Given the description of an element on the screen output the (x, y) to click on. 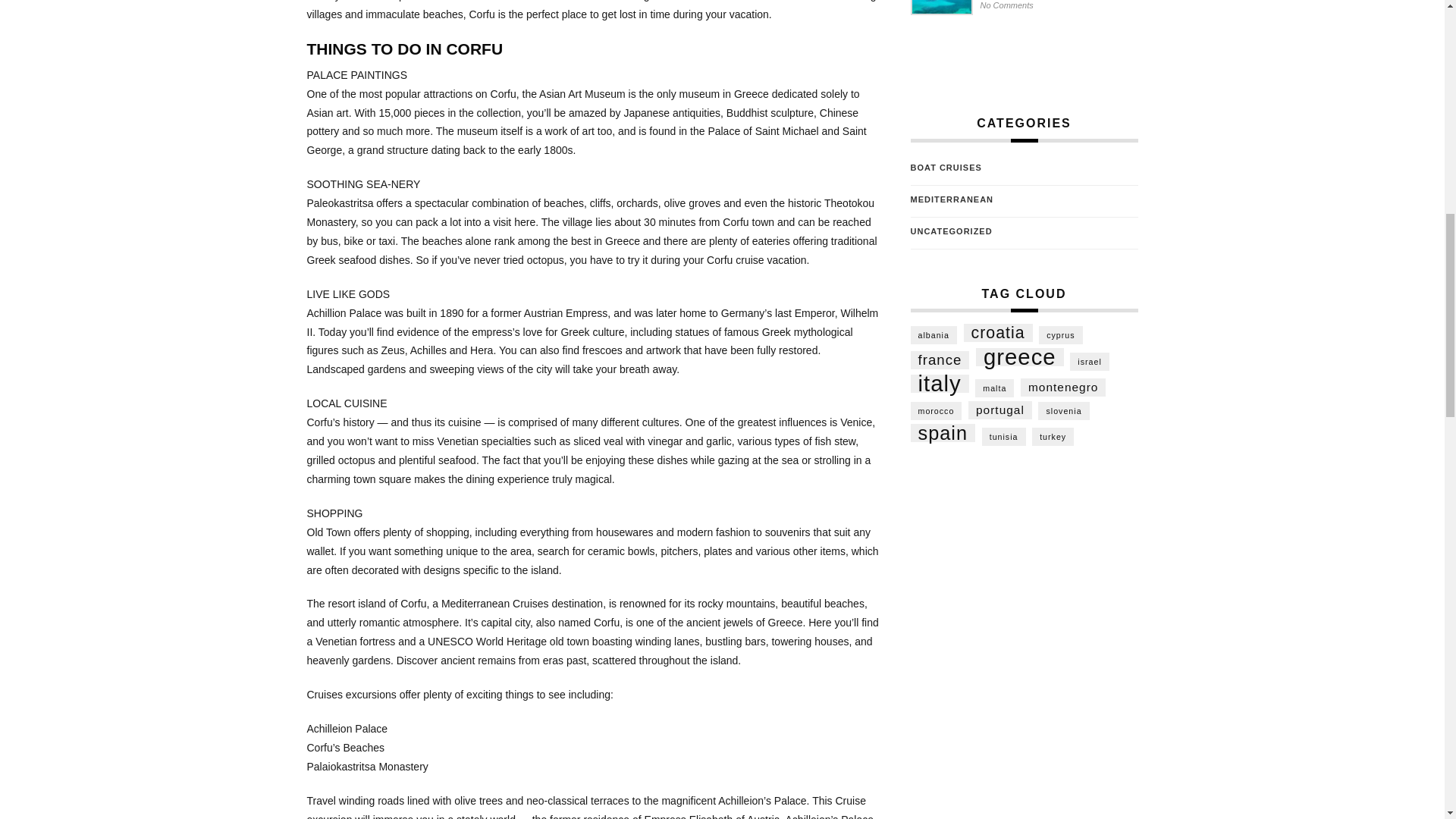
1 (777, 14)
